Given the description of an element on the screen output the (x, y) to click on. 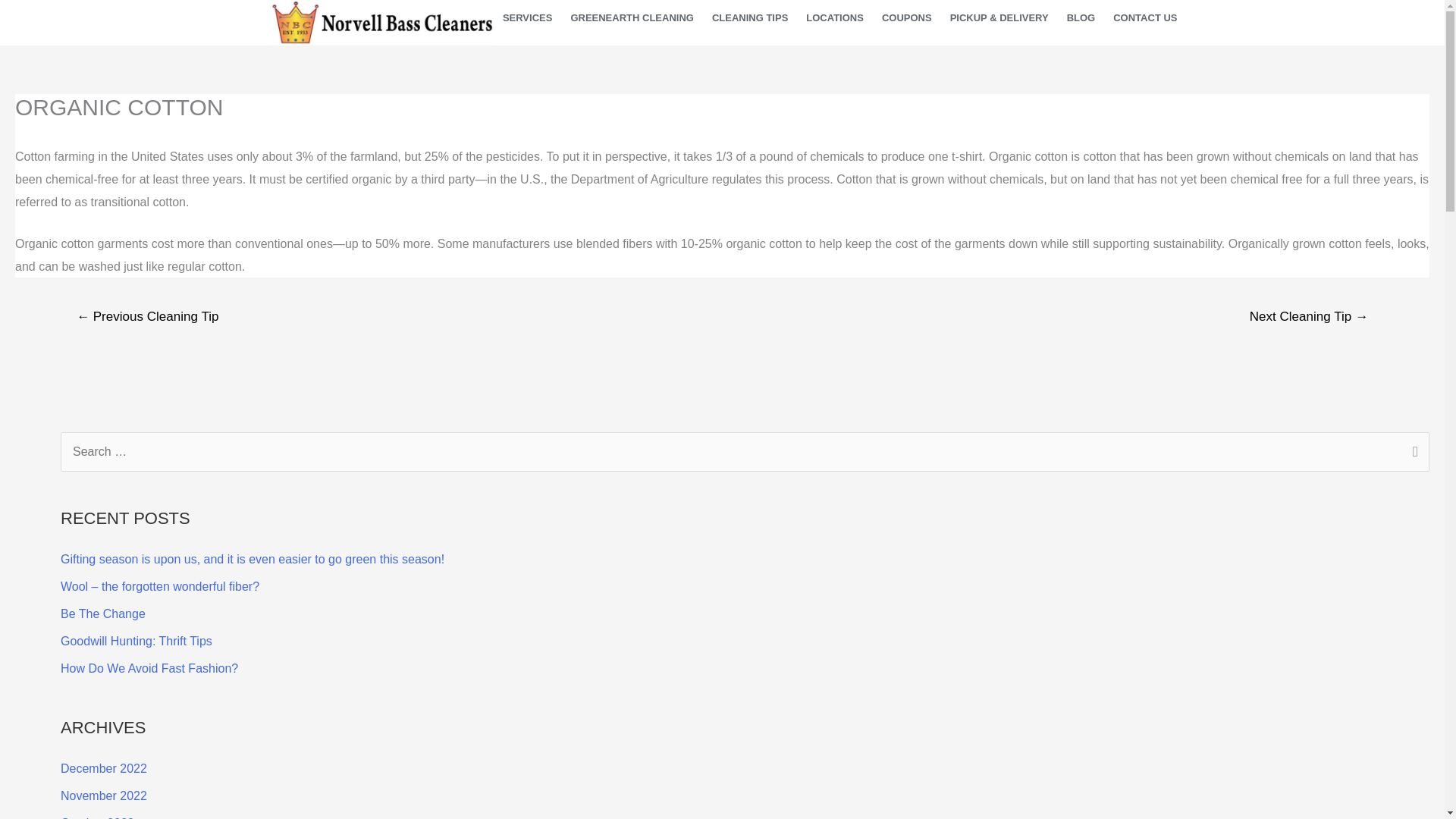
COUPONS (906, 18)
LOCATIONS (834, 18)
GREENEARTH CLEANING (632, 18)
CLEANING TIPS (749, 18)
SERVICES (527, 18)
CONTACT US (1144, 18)
